Given the description of an element on the screen output the (x, y) to click on. 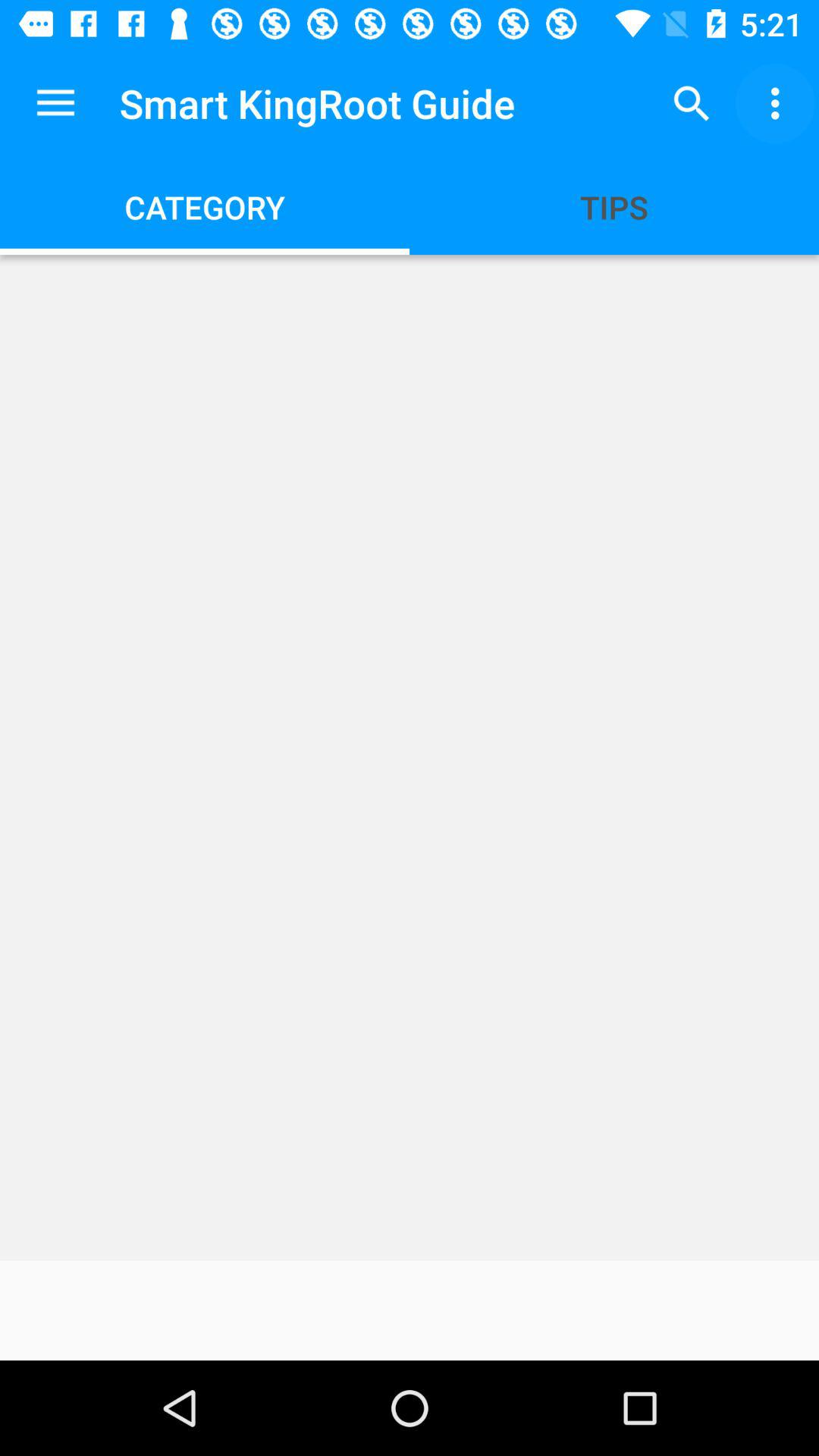
press item next to smart kingroot guide (691, 103)
